Given the description of an element on the screen output the (x, y) to click on. 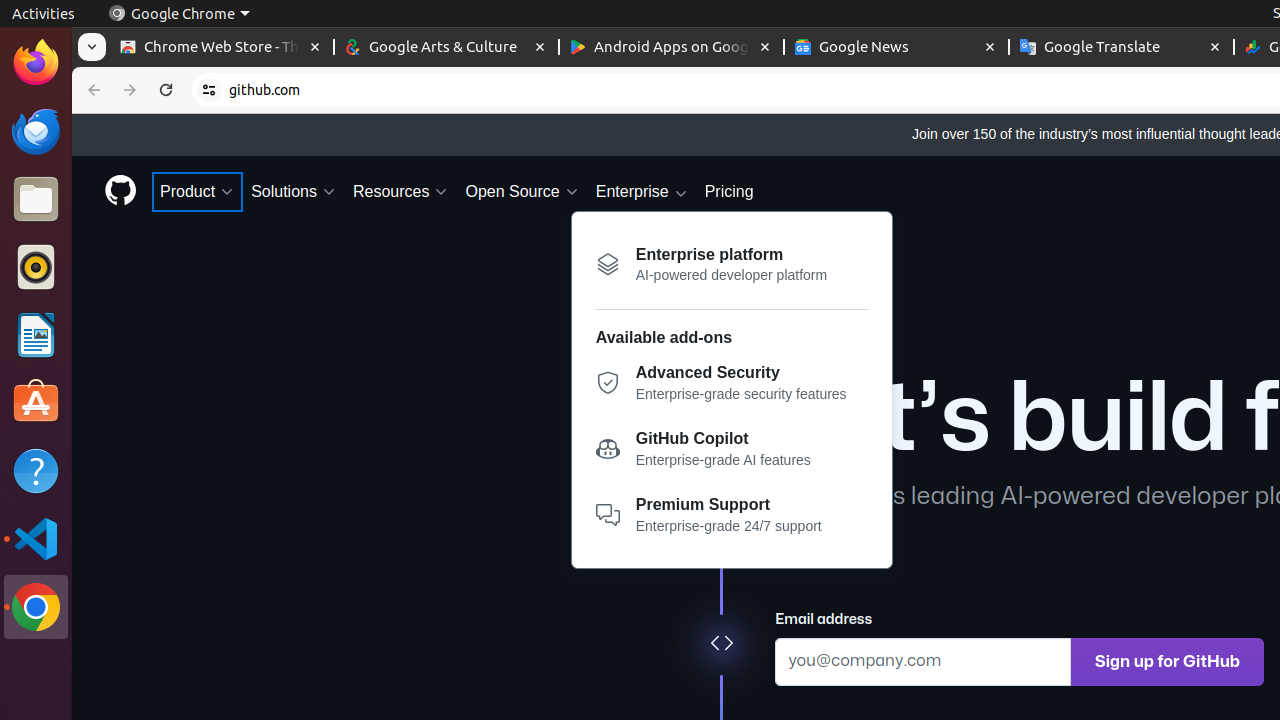
Firefox Web Browser Element type: push-button (36, 63)
Ubuntu Software Element type: push-button (36, 402)
Google Chrome Element type: menu (179, 13)
Thunderbird Mail Element type: push-button (36, 131)
LibreOffice Writer Element type: push-button (36, 334)
